Given the description of an element on the screen output the (x, y) to click on. 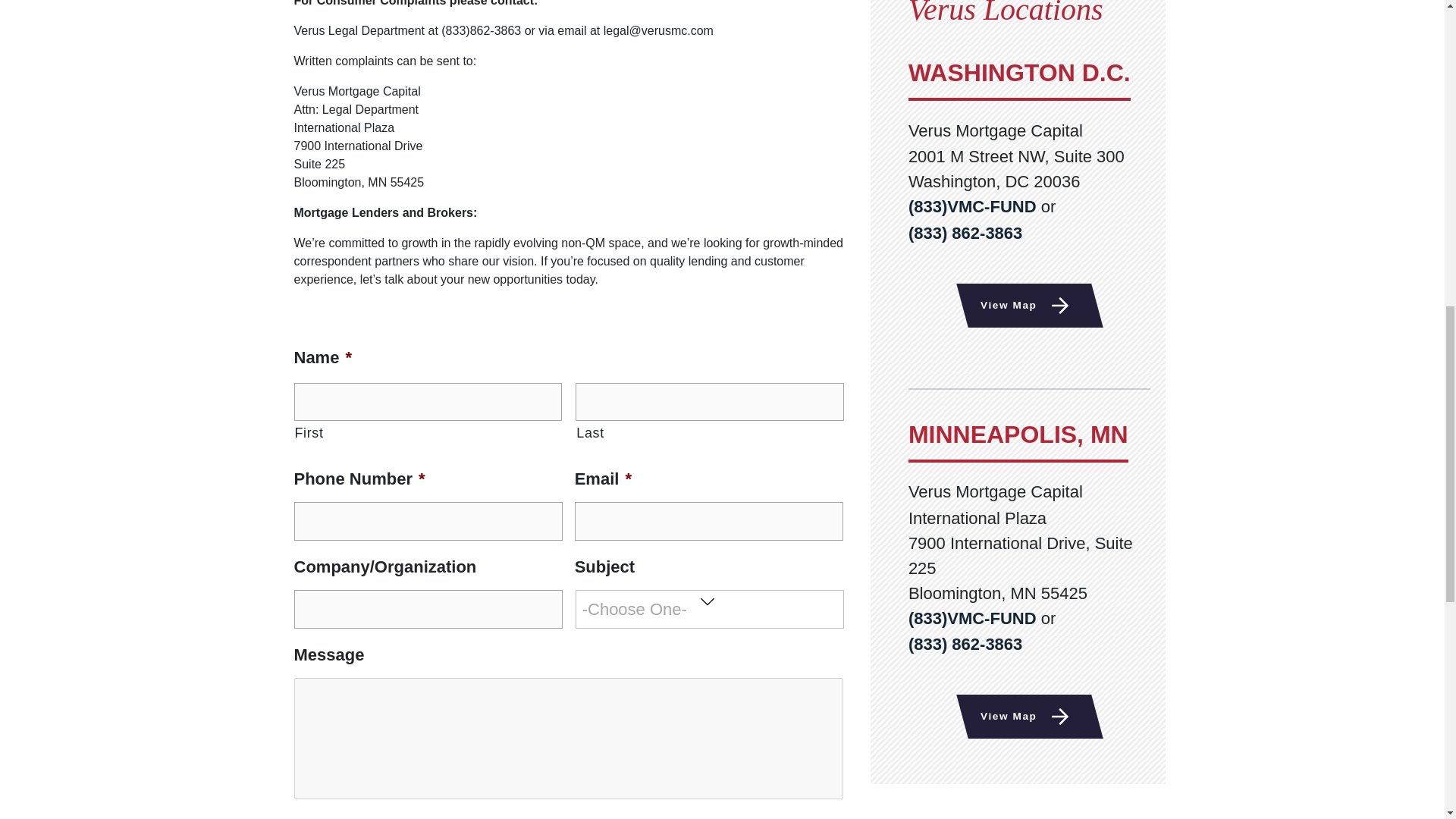
View Map (1023, 716)
View Map (1023, 305)
